Given the description of an element on the screen output the (x, y) to click on. 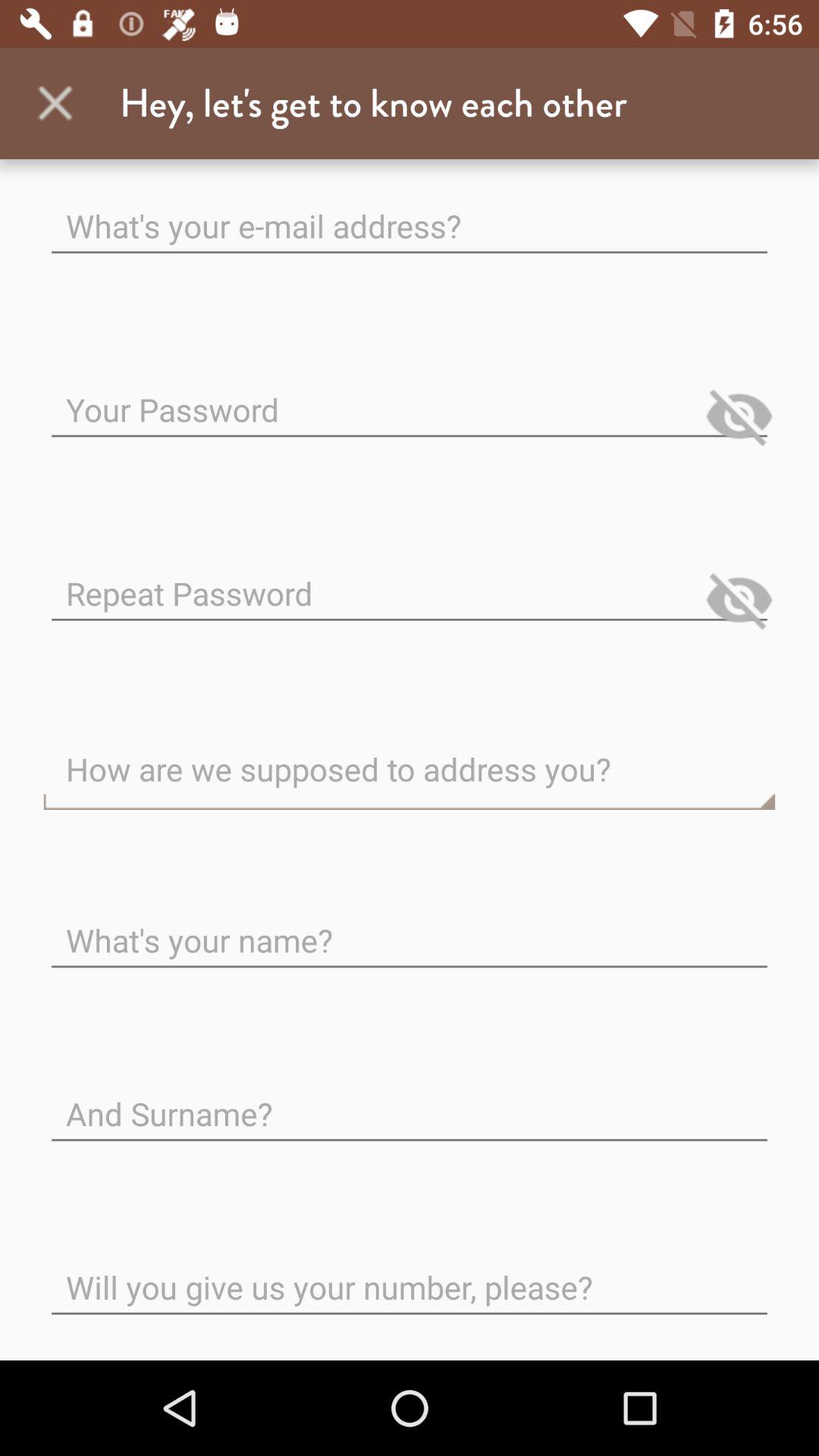
turn on item to the left of hey let s item (55, 103)
